Given the description of an element on the screen output the (x, y) to click on. 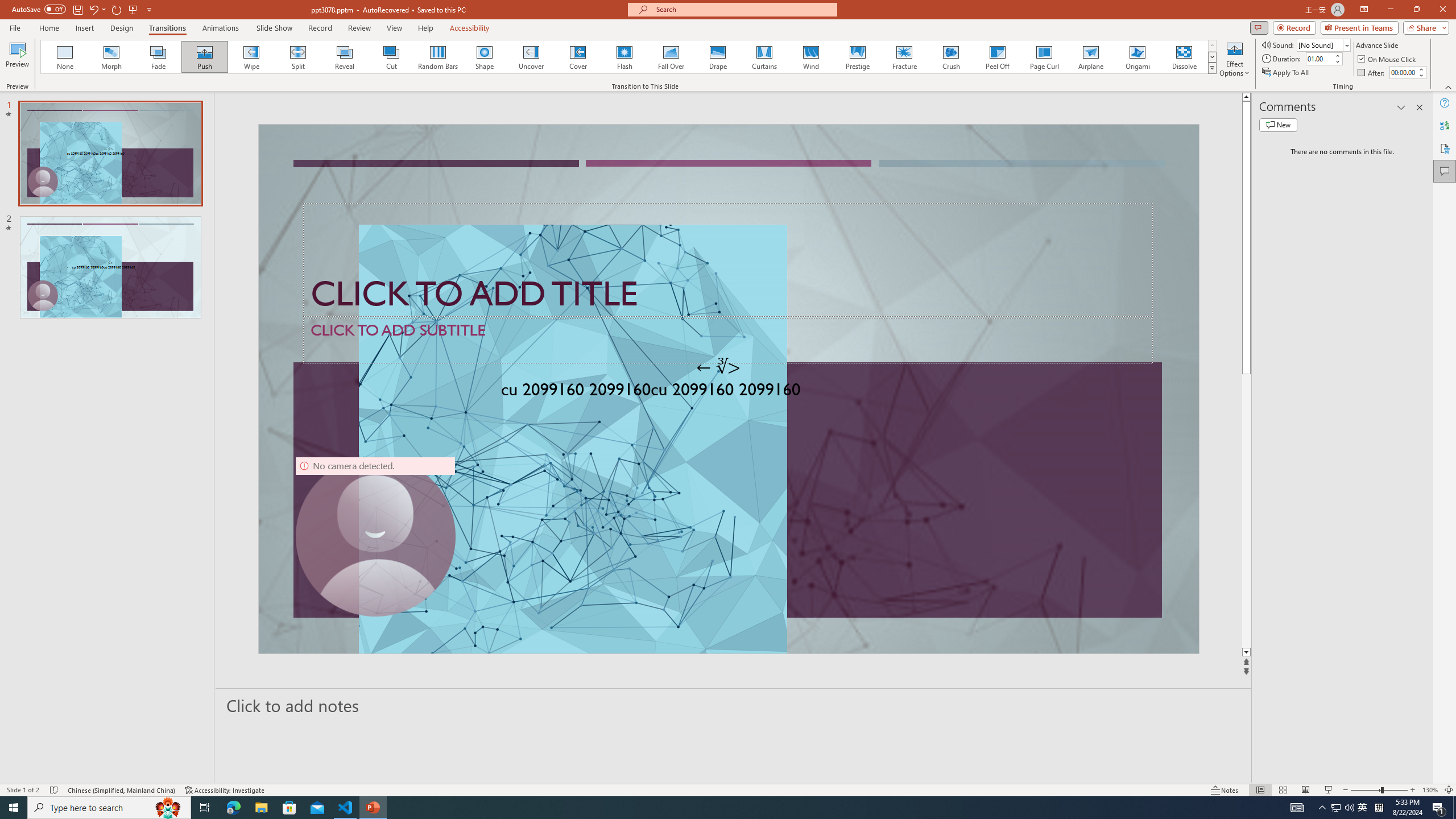
Open (1345, 44)
Slide Sorter (1282, 790)
Preview (17, 58)
Customize Quick Access Toolbar (149, 9)
Collapse the Ribbon (1448, 86)
Fall Over (670, 56)
New comment (1278, 124)
Save (77, 9)
None (65, 56)
Close (1442, 9)
Random Bars (437, 56)
Reading View (1305, 790)
